Given the description of an element on the screen output the (x, y) to click on. 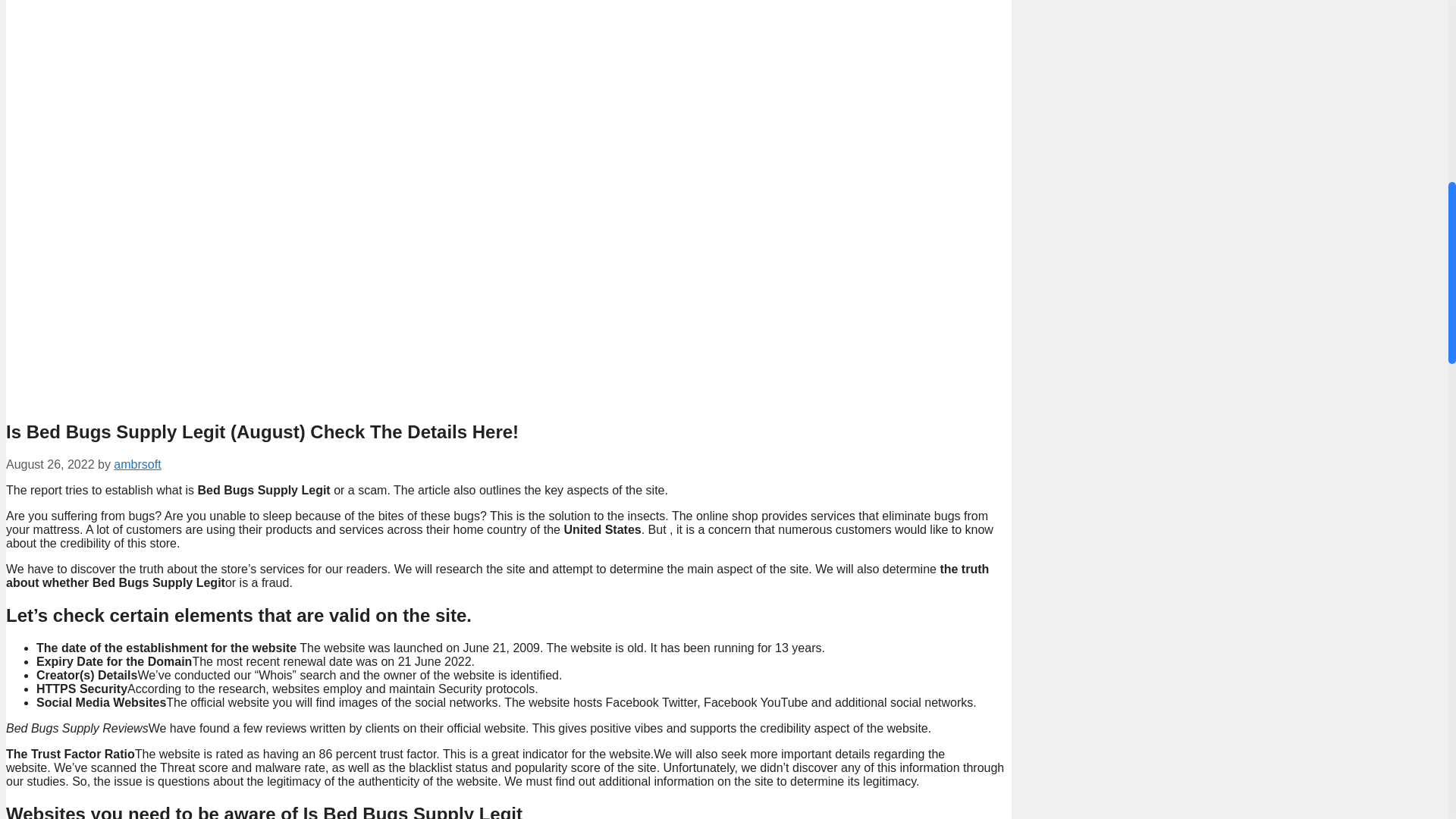
Scroll back to top (1409, 720)
ambrsoft (136, 463)
View all posts by ambrsoft (136, 463)
